Given the description of an element on the screen output the (x, y) to click on. 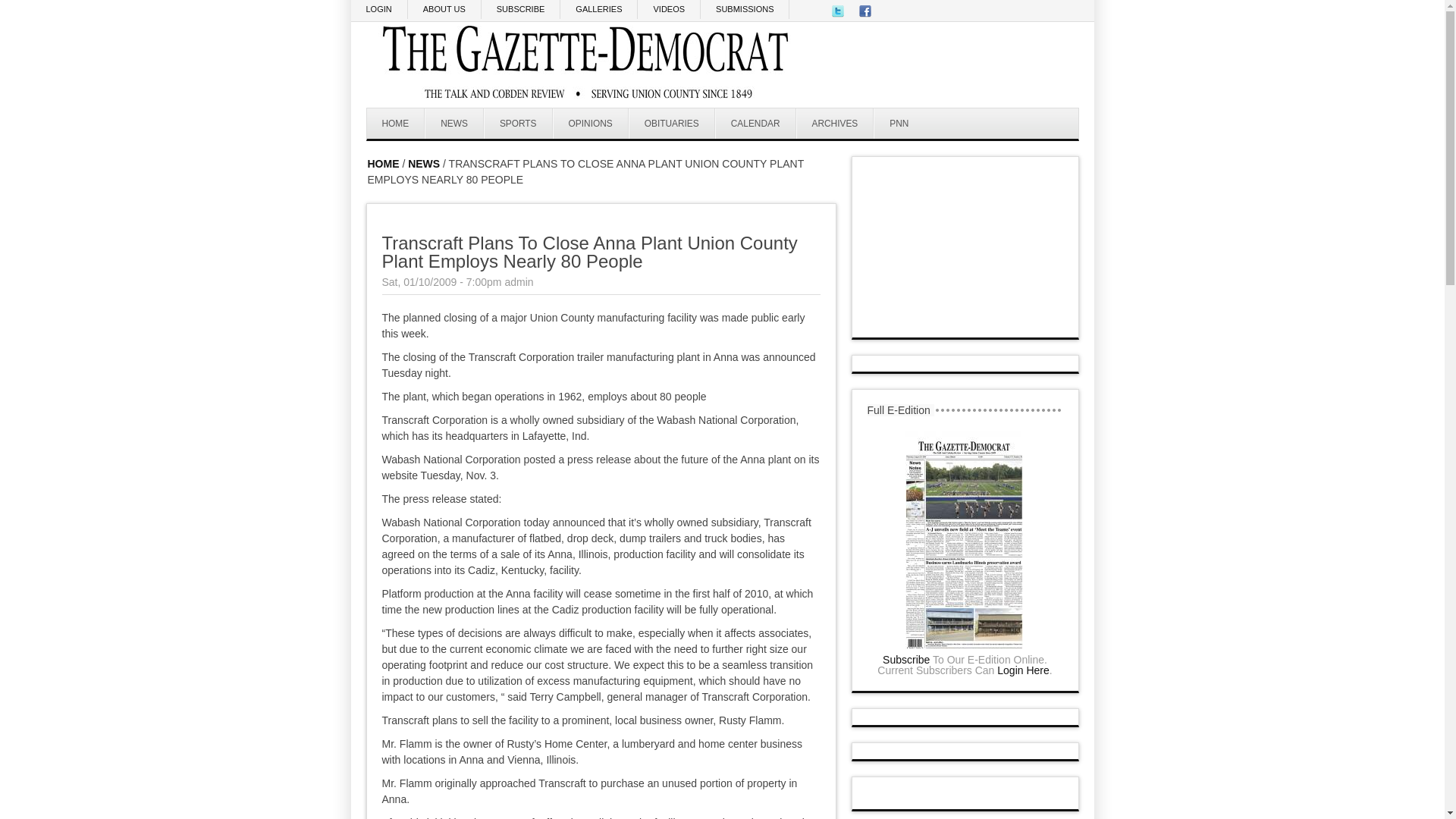
ABOUT US (444, 9)
SPORTS (518, 123)
OPINIONS (590, 123)
HOME (395, 123)
PNN (898, 123)
NEWS (423, 163)
VIDEOS (668, 9)
HOME (382, 163)
CALENDAR (755, 123)
